Given the description of an element on the screen output the (x, y) to click on. 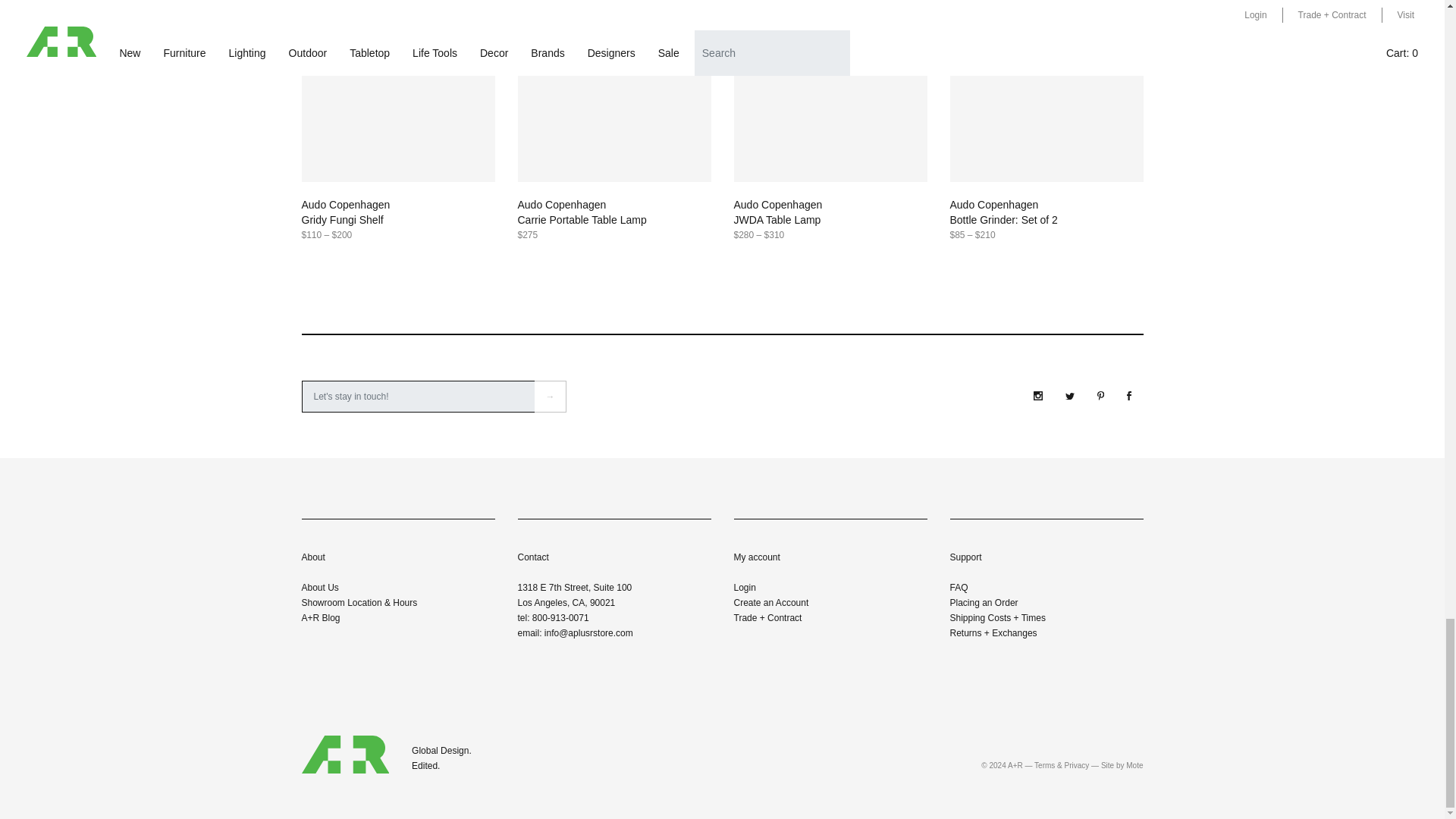
Twitter (1069, 396)
Facebook (1128, 395)
Emai (418, 396)
Pinterest (1100, 395)
Instagram (1037, 395)
